Given the description of an element on the screen output the (x, y) to click on. 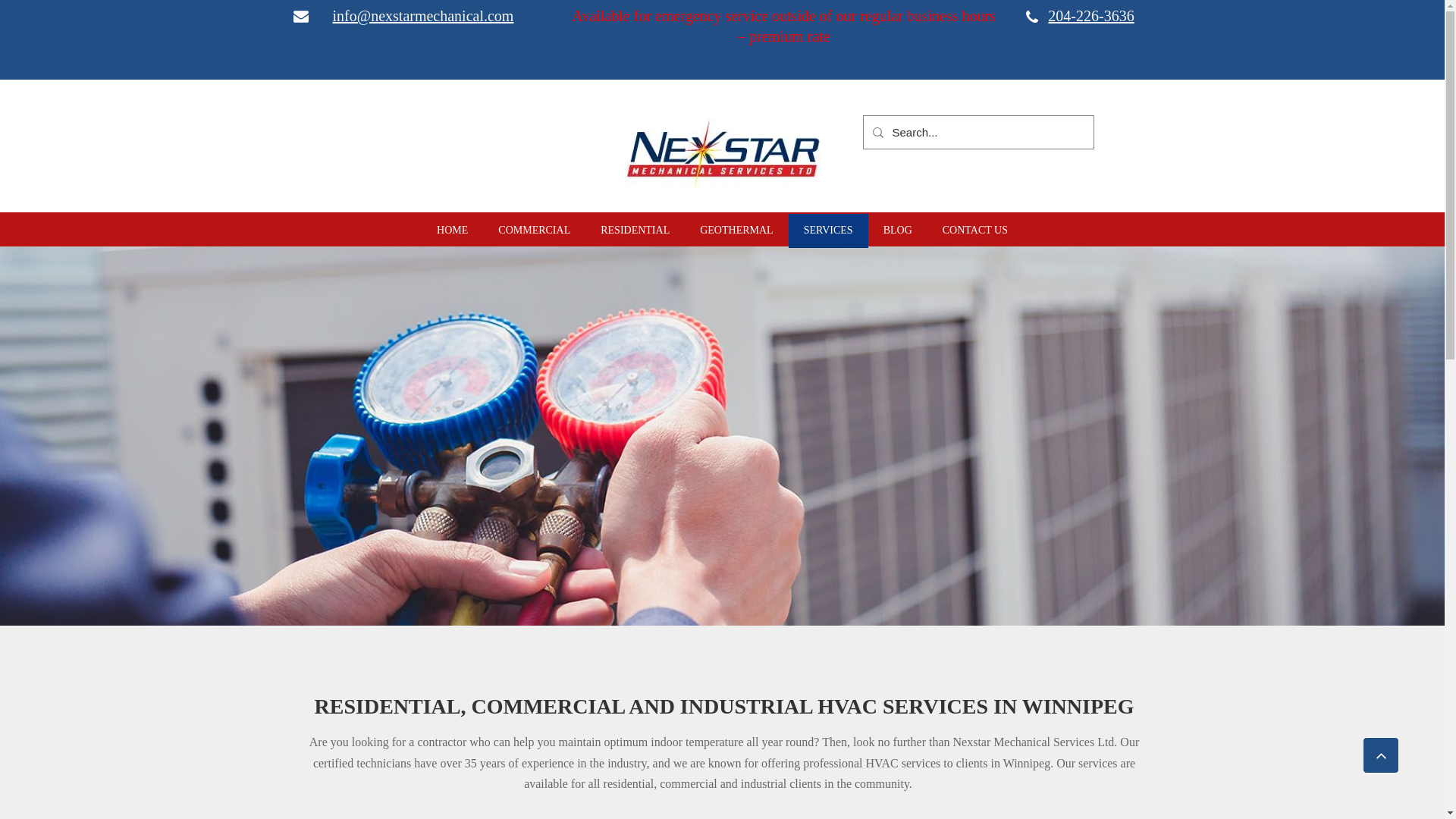
BLOG (897, 230)
GEOTHERMAL (735, 230)
CONTACT US (975, 230)
RESIDENTIAL (634, 230)
SERVICES (828, 230)
   204-226-3636 (1085, 15)
HOME (452, 230)
COMMERCIAL (534, 230)
